Given the description of an element on the screen output the (x, y) to click on. 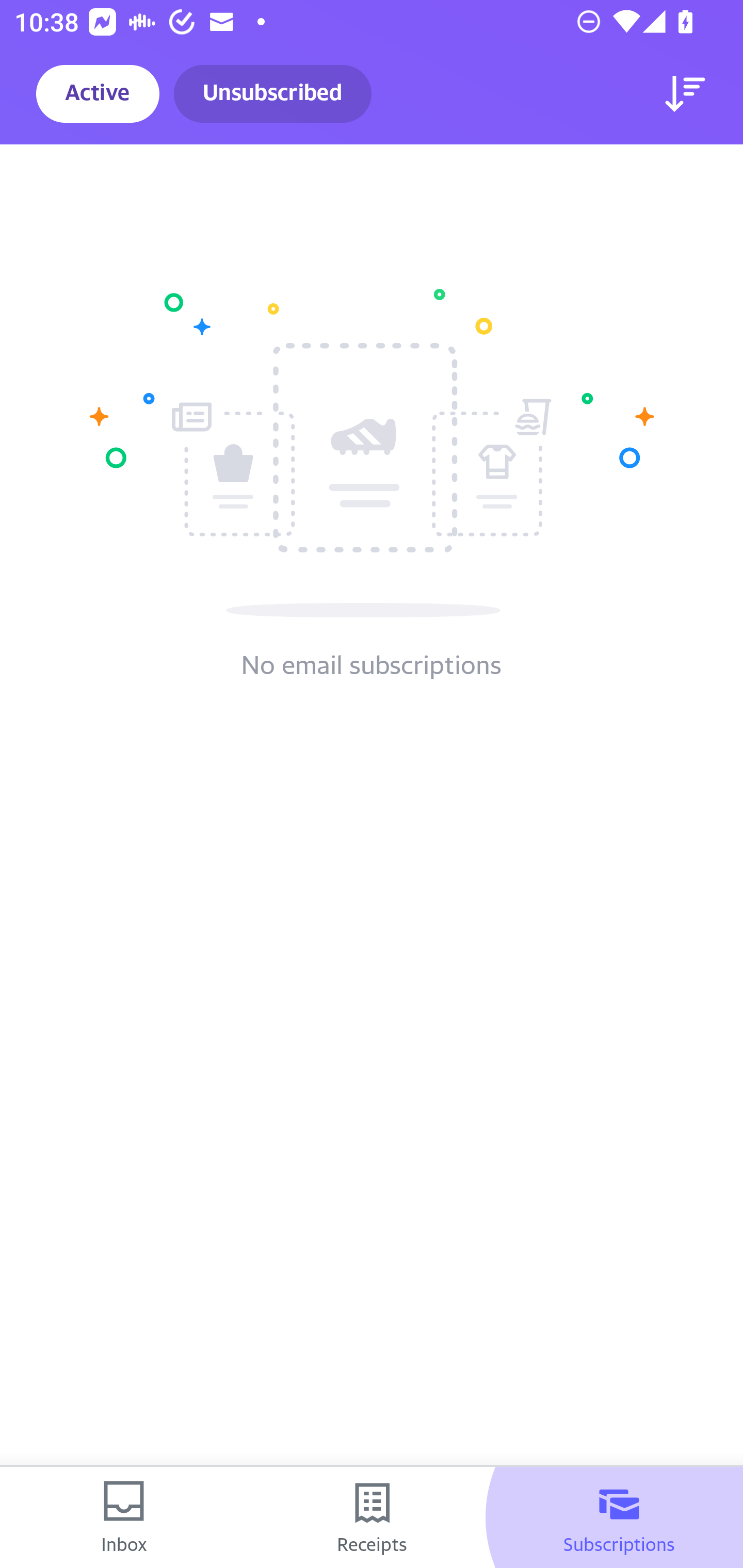
Unsubscribed (272, 93)
Sort (684, 93)
Inbox (123, 1517)
Receipts (371, 1517)
Subscriptions (619, 1517)
